Given the description of an element on the screen output the (x, y) to click on. 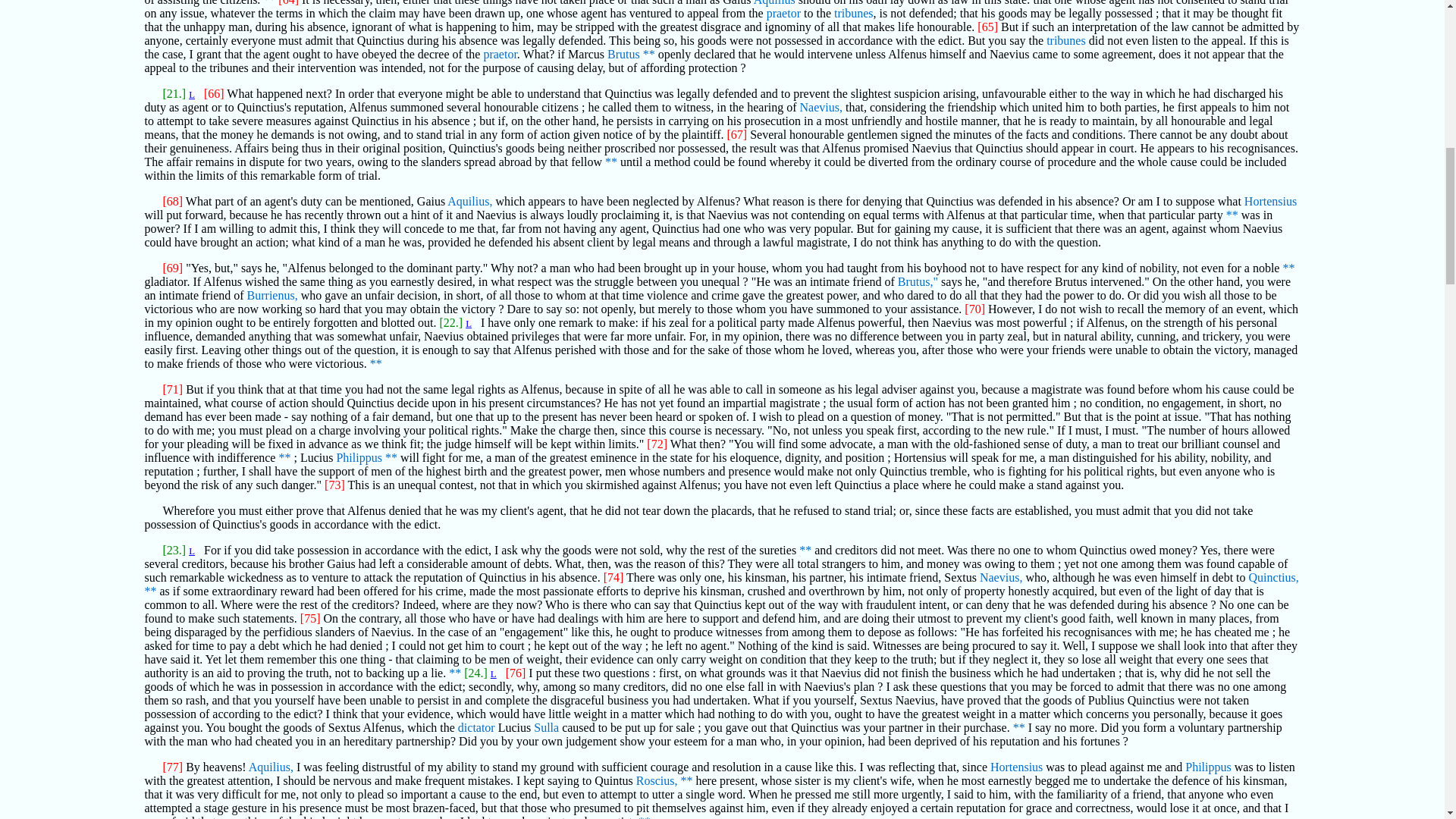
71 (1288, 267)
68 (649, 53)
69 (611, 161)
70 (1232, 214)
72 (375, 363)
67 (269, 2)
77 (454, 672)
73 (283, 457)
75 (804, 549)
74 (391, 457)
76 (149, 590)
